Given the description of an element on the screen output the (x, y) to click on. 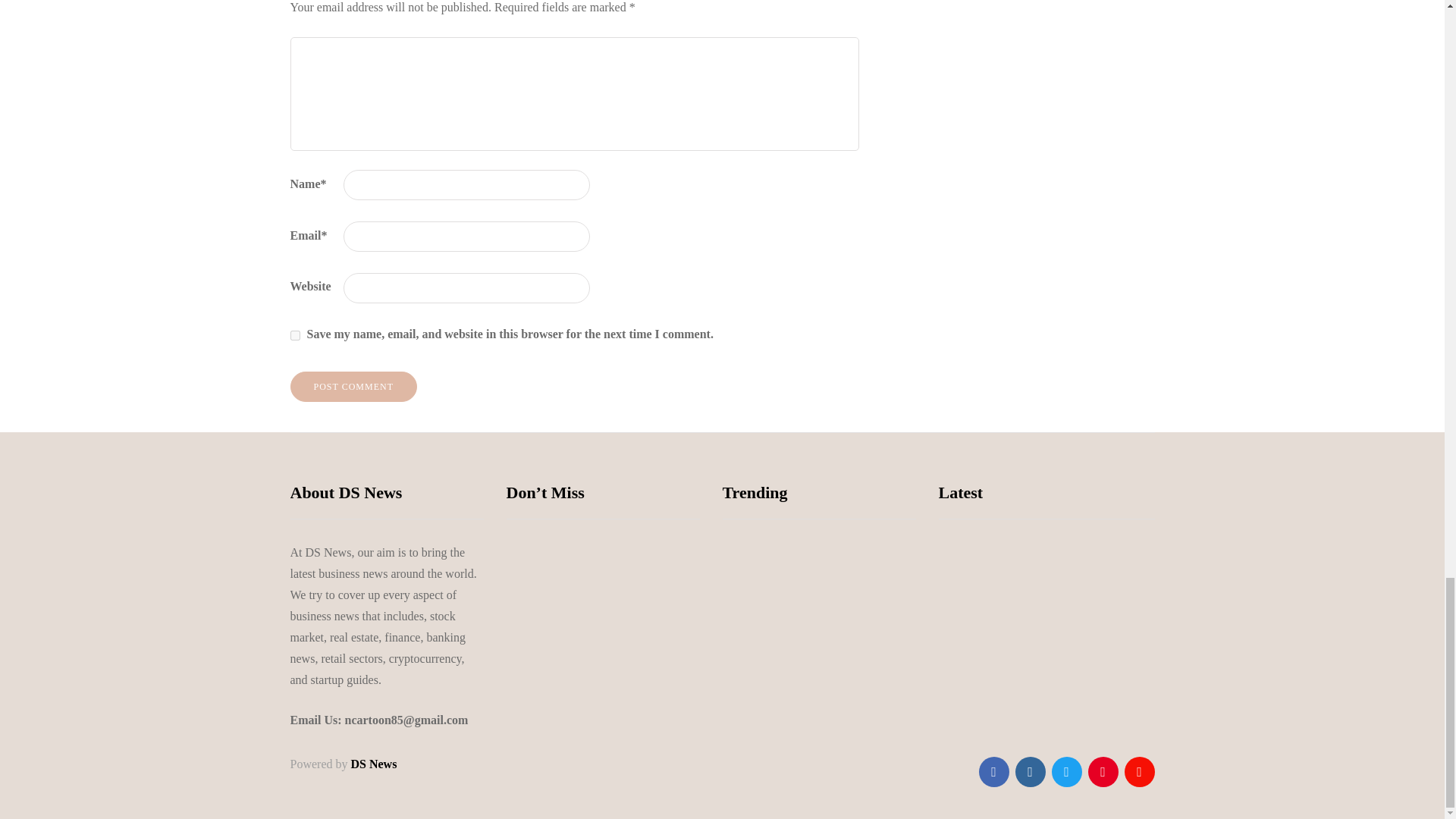
Post comment (352, 386)
yes (294, 335)
